Given the description of an element on the screen output the (x, y) to click on. 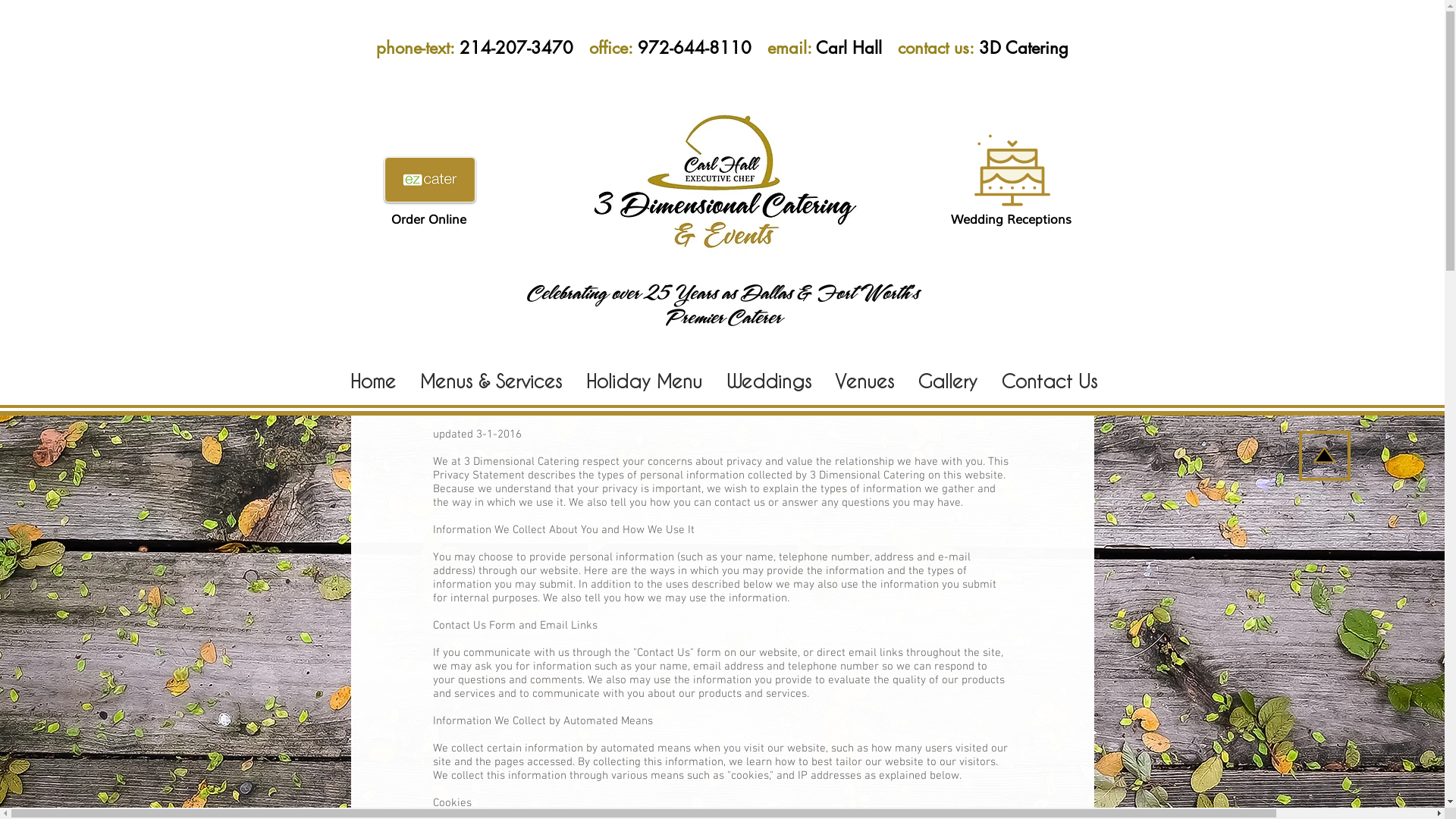
214-207-3470    Element type: text (524, 47)
Embedded Content Element type: hover (259, 72)
972-644-8110    Element type: text (701, 47)
EZ Cater Link Element type: hover (428, 179)
Weddings Element type: text (768, 379)
Carl Hall    Element type: text (856, 47)
Contact Us Element type: text (1047, 379)
Home Element type: text (372, 379)
Holiday Menu Element type: text (644, 379)
Venues Element type: text (864, 379)
3D Catering Element type: text (1022, 47)
Gallery Element type: text (946, 379)
Menus & Services Element type: text (490, 379)
Embedded Content Element type: hover (1188, 109)
